Given the description of an element on the screen output the (x, y) to click on. 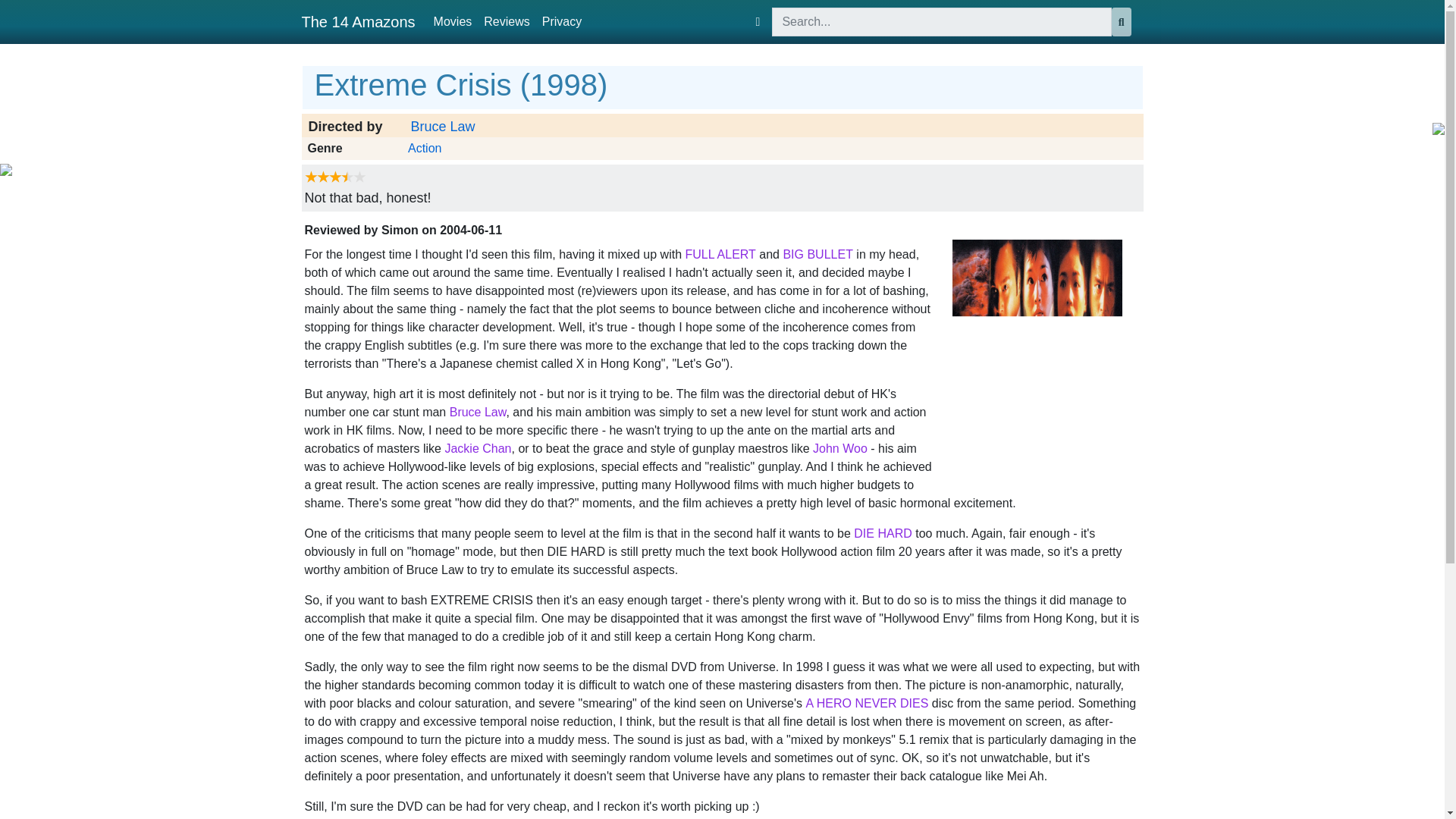
Action (424, 148)
Privacy (561, 21)
Bruce Law (443, 127)
The 14 Amazons (357, 21)
Movies (453, 21)
Reviews (506, 21)
